Given the description of an element on the screen output the (x, y) to click on. 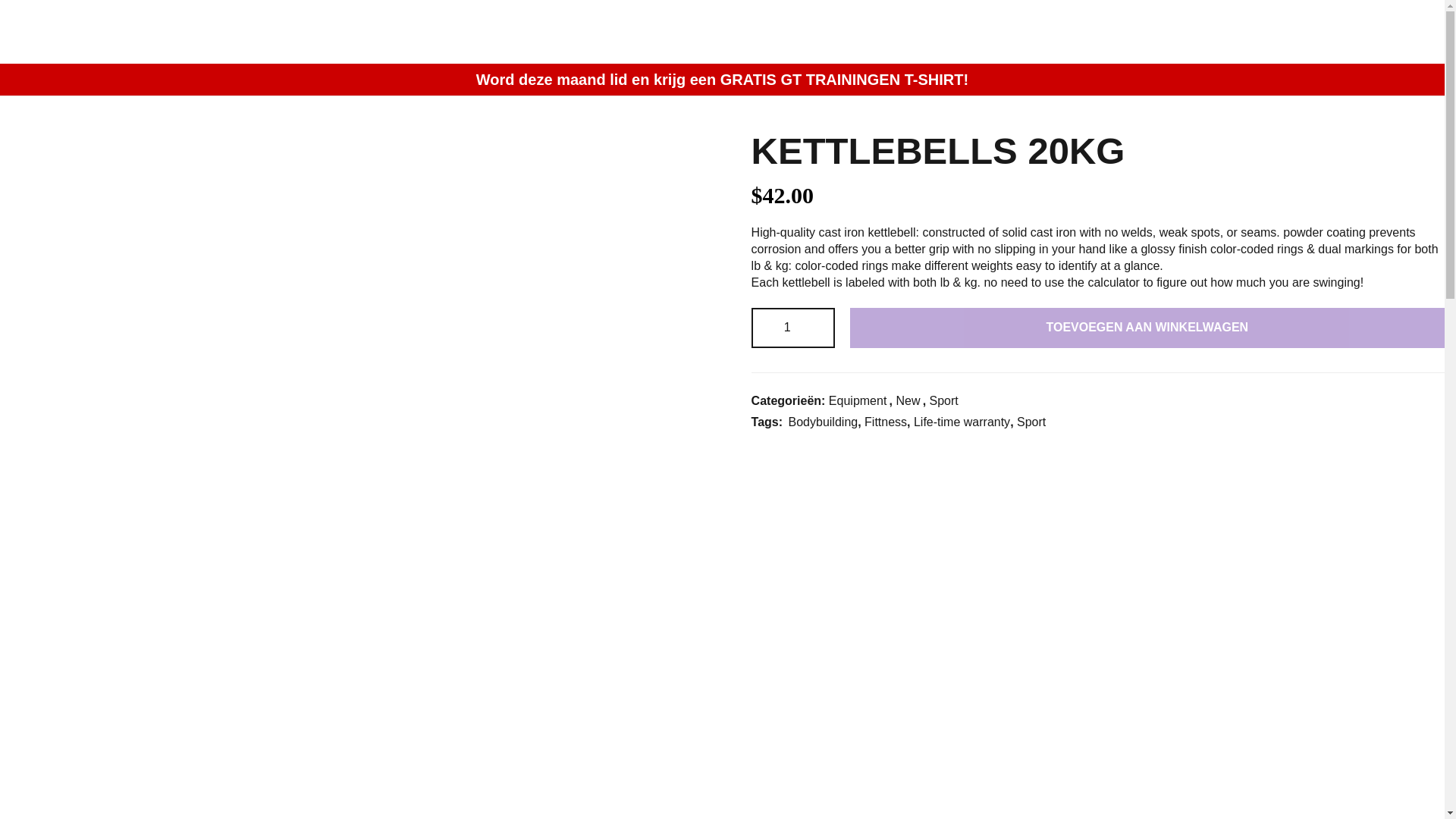
1 (792, 327)
